Given the description of an element on the screen output the (x, y) to click on. 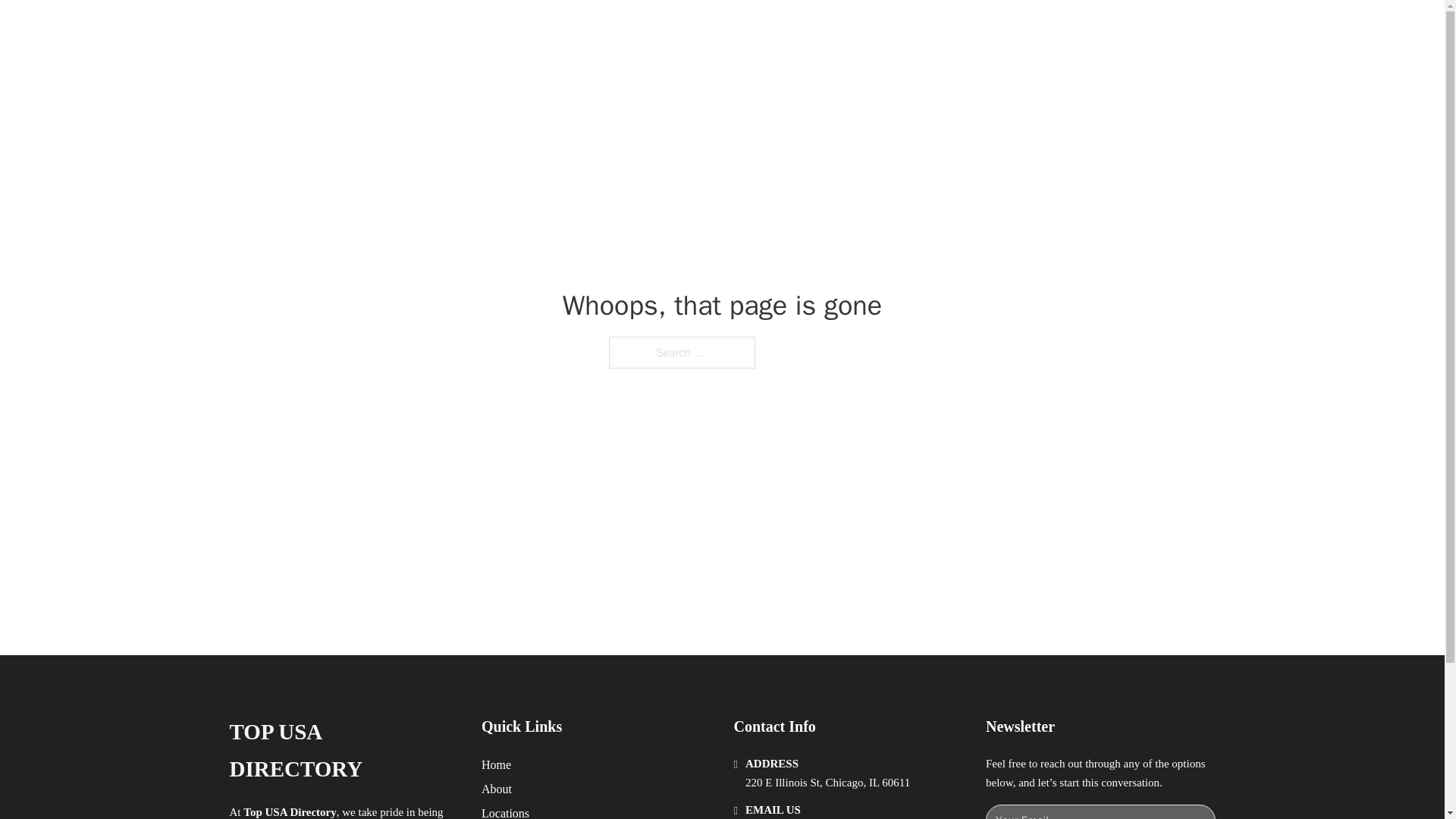
About (496, 788)
Locations (505, 811)
TOP USA DIRECTORY (343, 750)
HOME (919, 29)
TOP USA DIRECTORY (414, 28)
Home (496, 764)
LOCATIONS (990, 29)
